Given the description of an element on the screen output the (x, y) to click on. 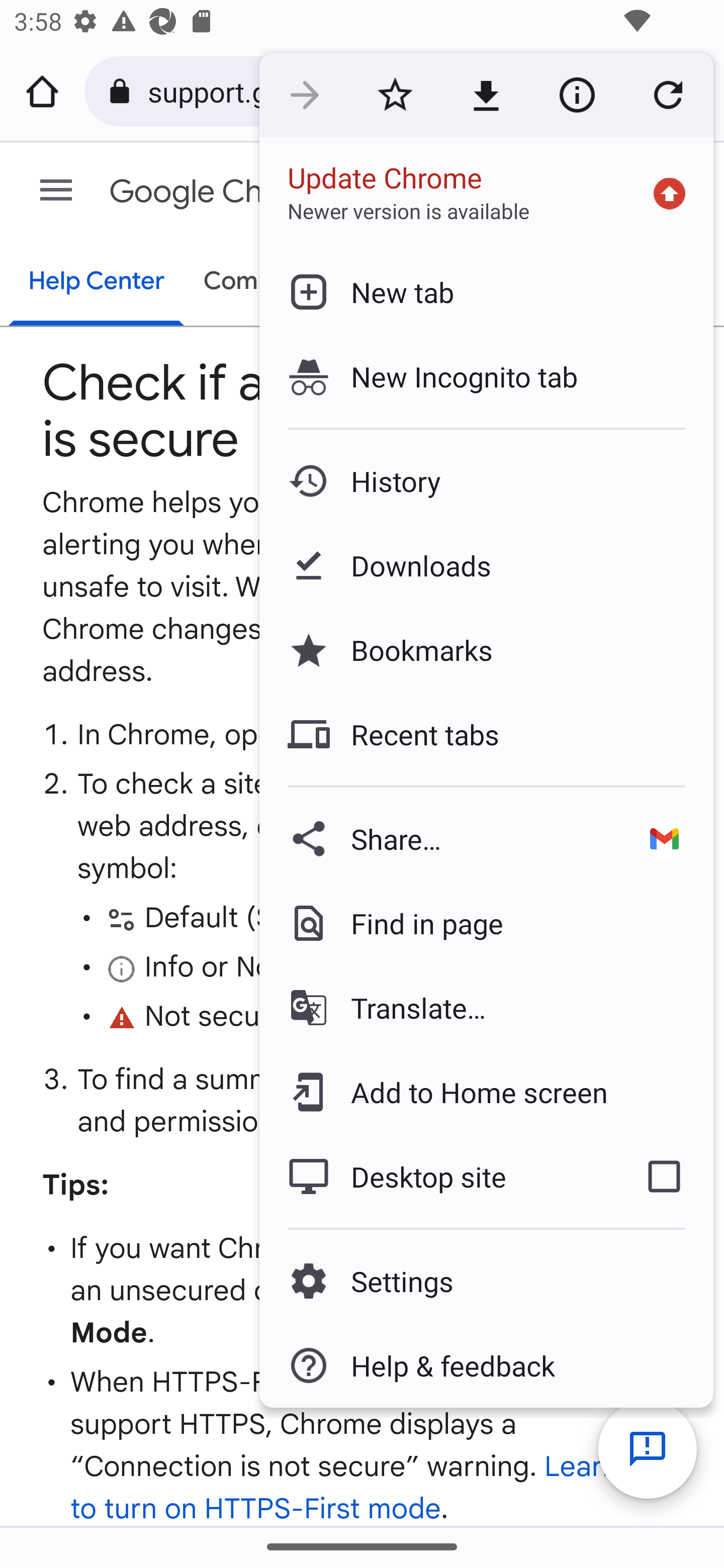
Forward (304, 95)
Bookmark (394, 95)
Download (485, 95)
Page info (576, 95)
Refresh (667, 95)
New tab (486, 291)
New Incognito tab (486, 375)
History (486, 481)
Downloads (486, 565)
Bookmarks (486, 649)
Recent tabs (486, 733)
Share… (436, 838)
Share via Gmail (663, 838)
Find in page (486, 923)
Translate… (486, 1007)
Add to Home screen (486, 1091)
Desktop site Turn on Request desktop site (436, 1175)
Settings (486, 1280)
Help & feedback (486, 1365)
